Given the description of an element on the screen output the (x, y) to click on. 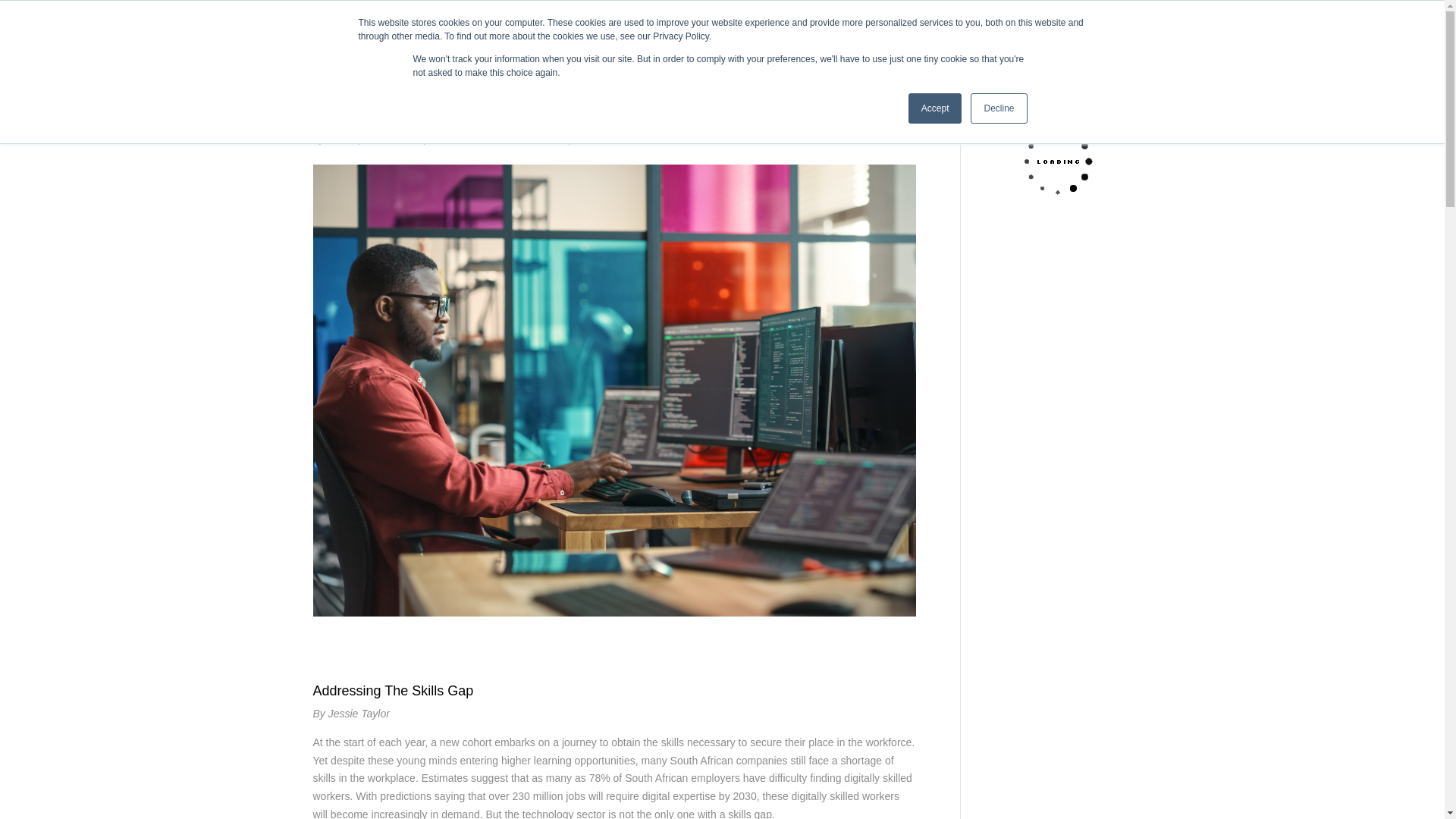
Editor (340, 138)
Editions (797, 40)
Decline (998, 108)
Feature in Public Sector Leaders (1038, 40)
Posts by Editor (340, 138)
0 comments (602, 138)
Contact (906, 40)
Accept (935, 108)
Public Sector Leaders (512, 138)
News (441, 138)
